Given the description of an element on the screen output the (x, y) to click on. 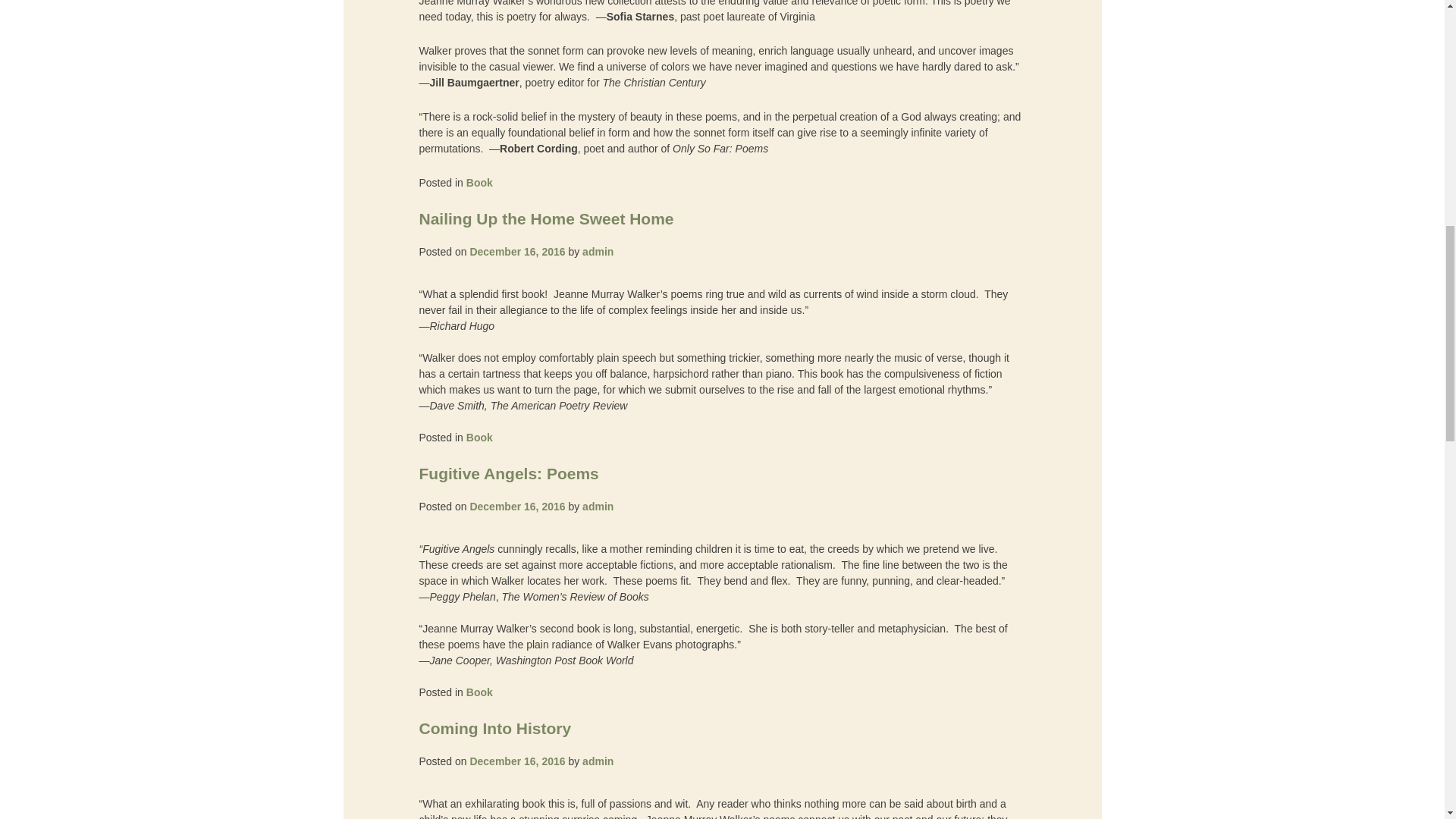
admin (597, 506)
December 16, 2016 (516, 761)
Book (479, 692)
Fugitive Angels: Poems (508, 473)
Book (479, 437)
December 16, 2016 (516, 506)
admin (597, 761)
Book (479, 182)
December 16, 2016 (516, 251)
Coming Into History (494, 728)
